Given the description of an element on the screen output the (x, y) to click on. 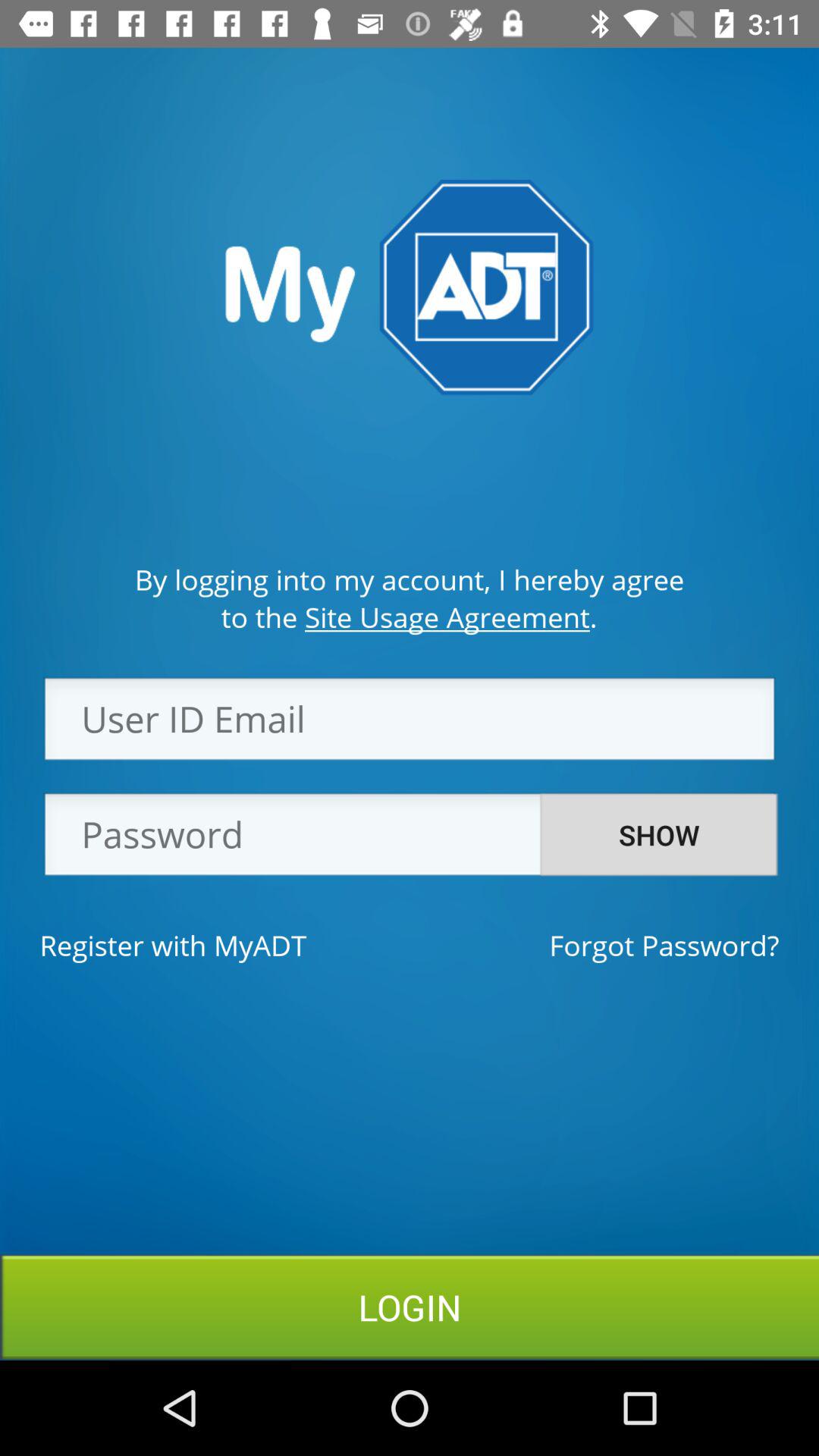
choose item below the by logging into (409, 616)
